Given the description of an element on the screen output the (x, y) to click on. 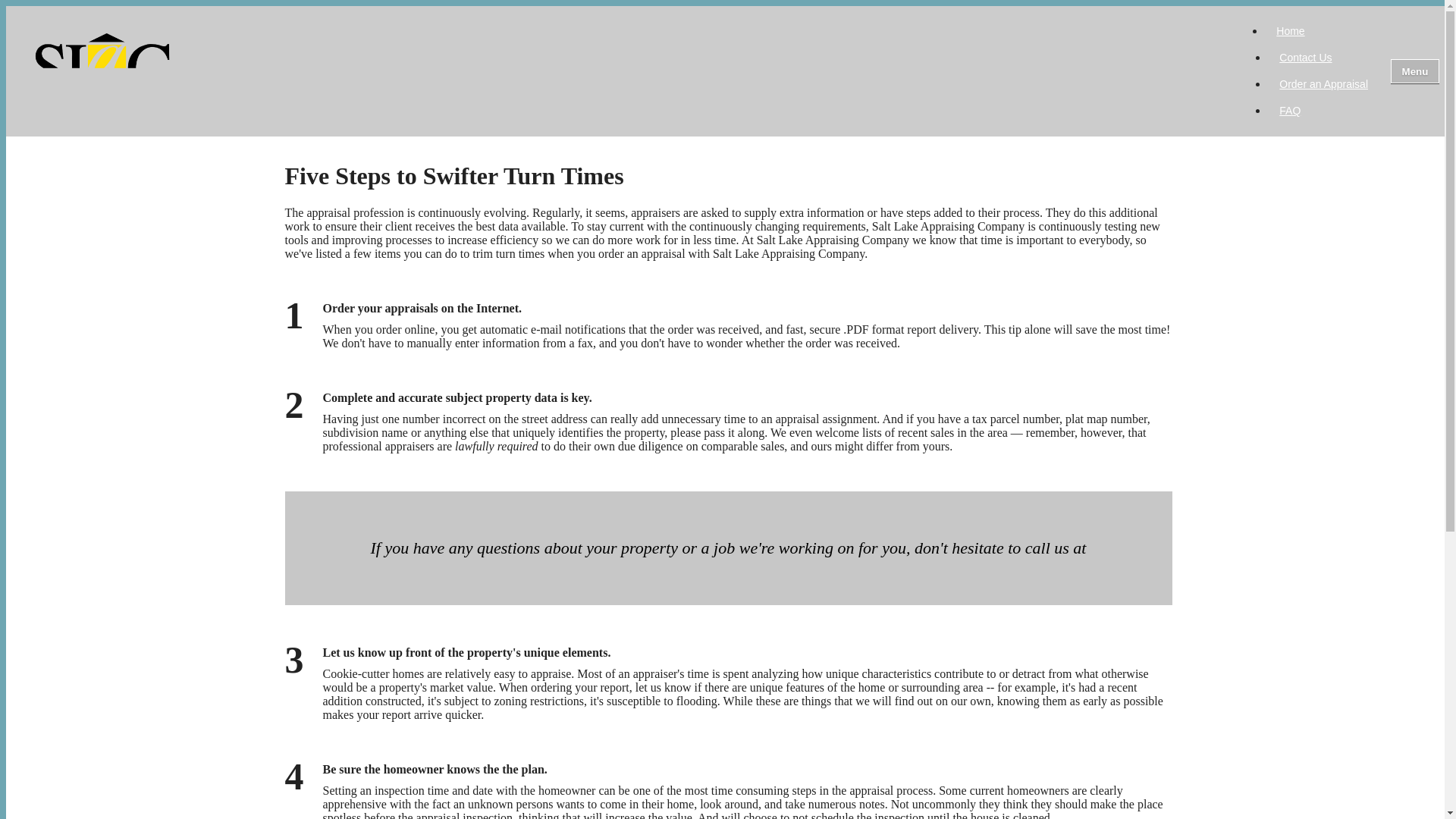
FAQ (1289, 110)
Order an Appraisal (1323, 84)
Home (1290, 31)
Contact Us (1305, 57)
Menu (1414, 70)
